Given the description of an element on the screen output the (x, y) to click on. 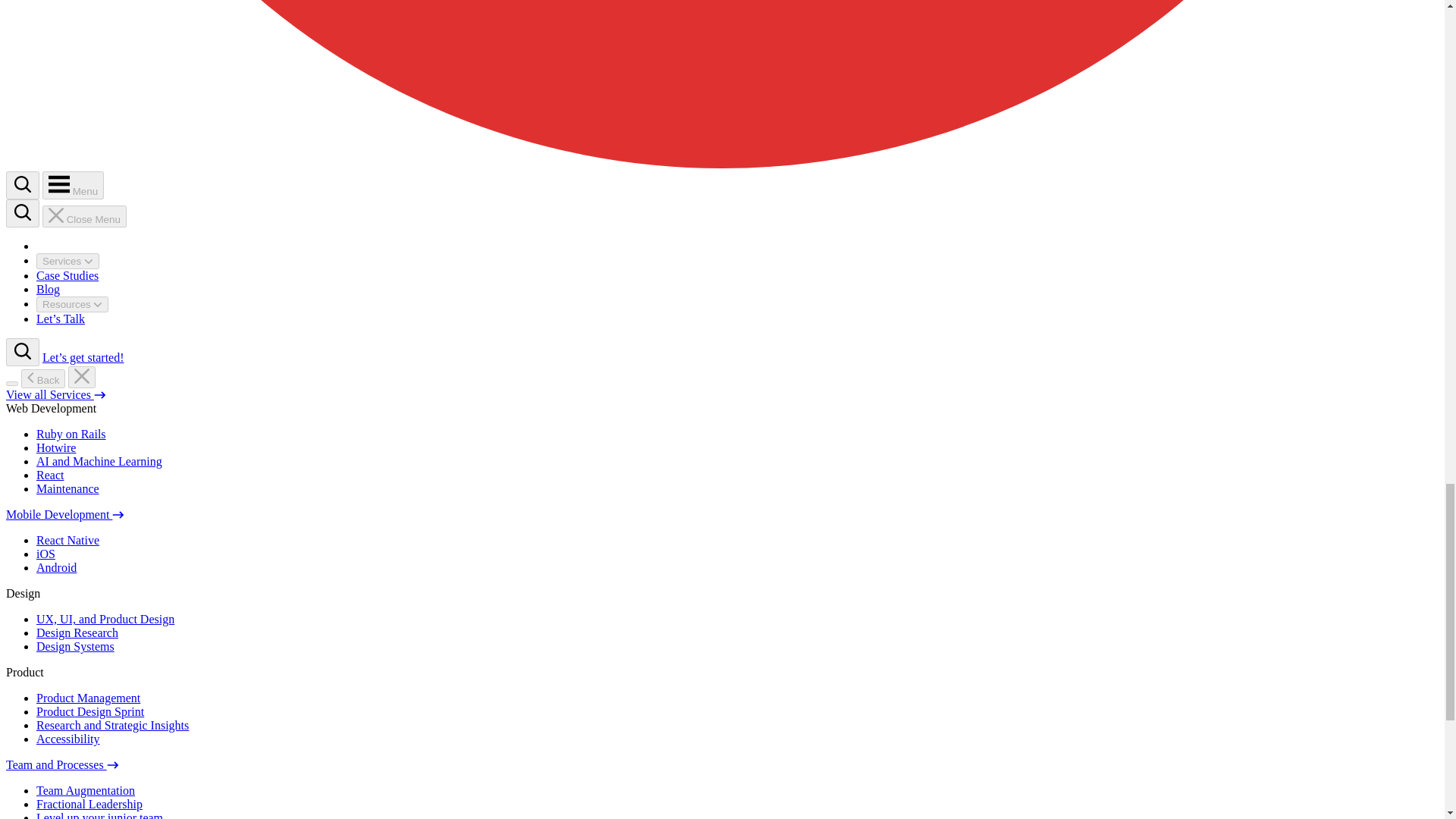
Android (56, 567)
iOS (45, 553)
AI and Machine Learning (98, 461)
Team Augmentation (85, 789)
React (50, 474)
React Native (67, 540)
View all Services (55, 394)
Product Management (87, 697)
Menu (72, 185)
UX, UI, and Product Design (105, 618)
